Given the description of an element on the screen output the (x, y) to click on. 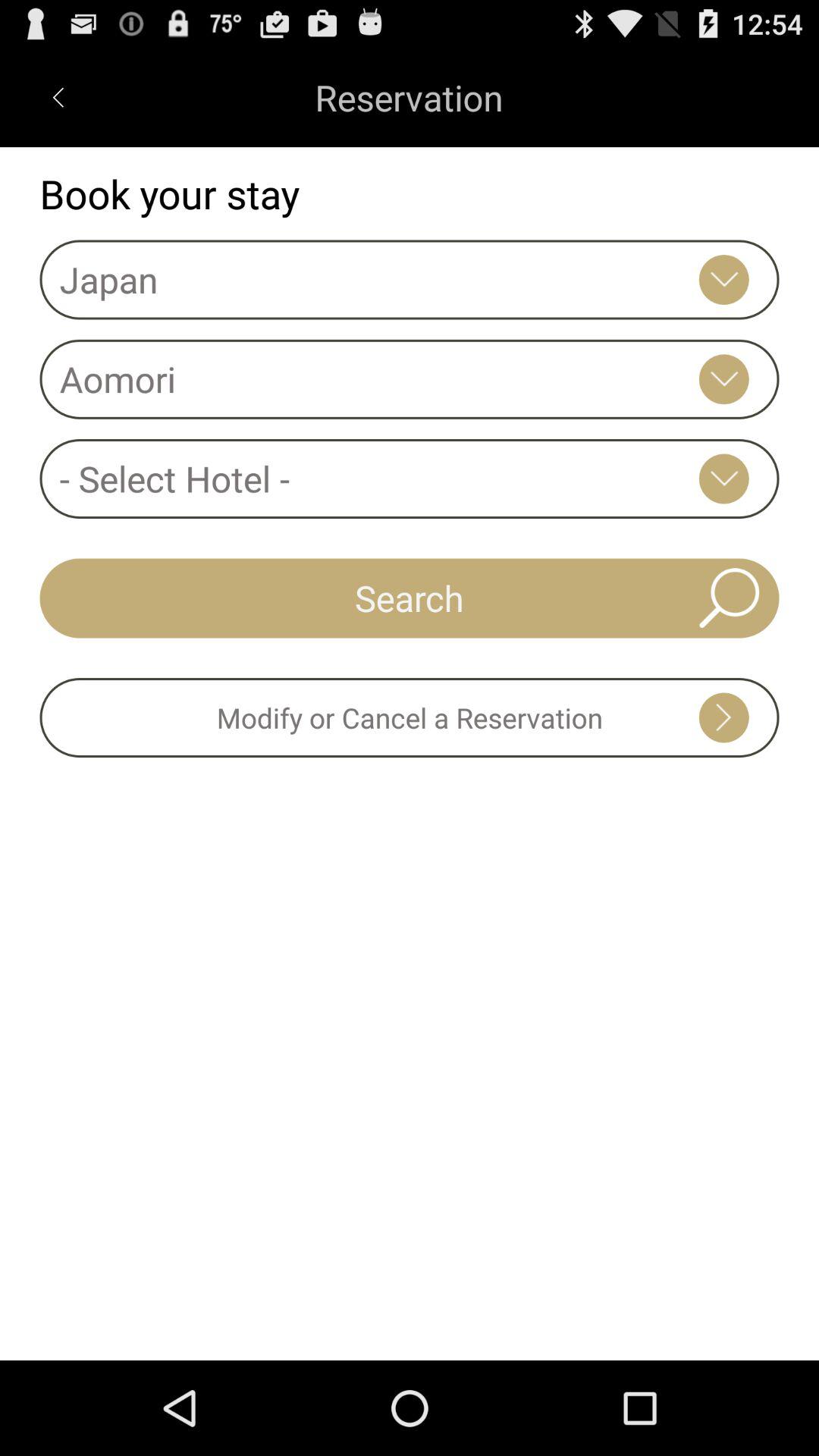
press icon above modify or cancel icon (409, 598)
